Given the description of an element on the screen output the (x, y) to click on. 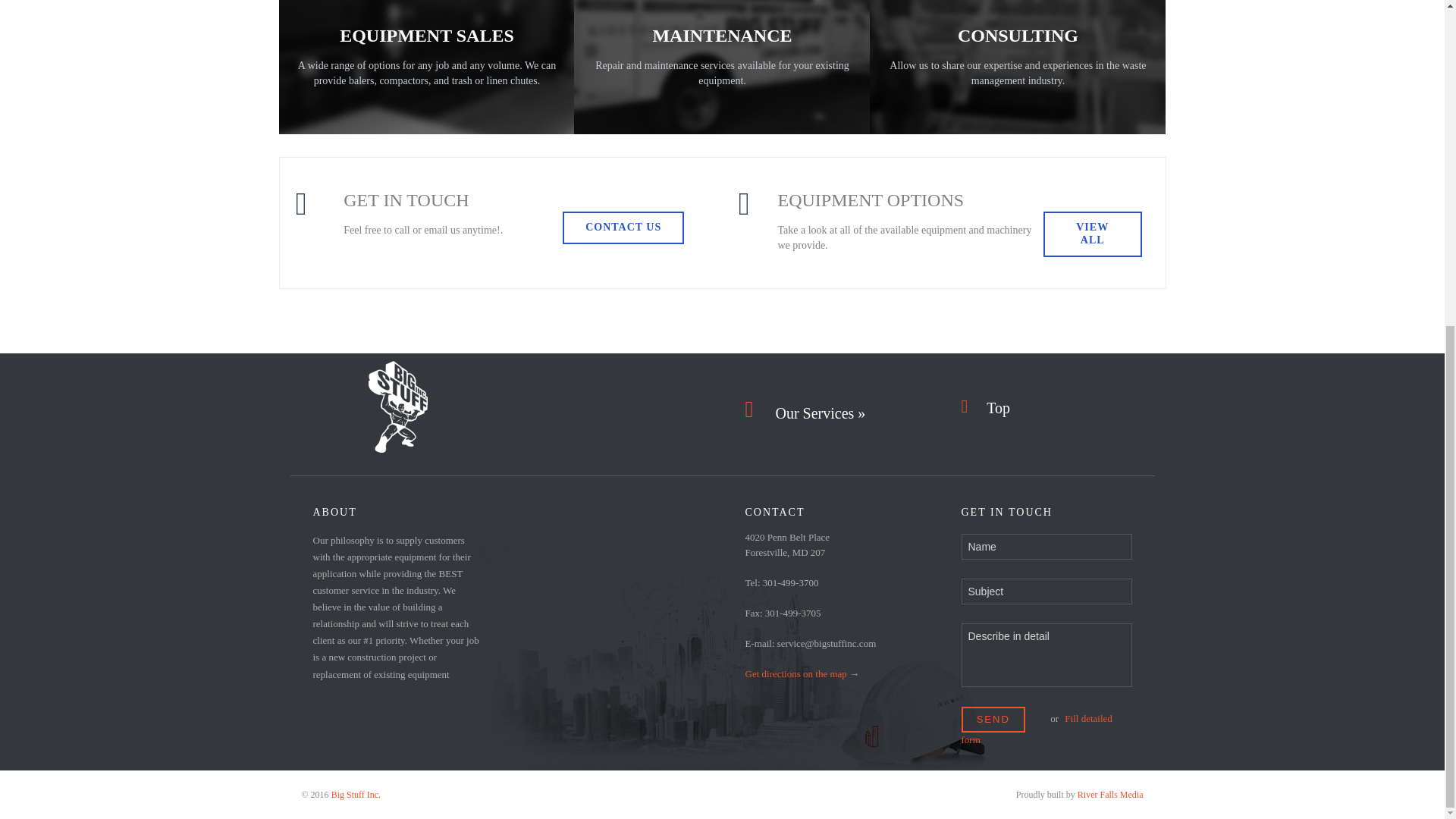
REQUEST SERVICE (721, 150)
Subject (1046, 591)
GET IN TOUCH (1018, 150)
Name (1046, 546)
VIEW INVENTORY (426, 150)
SEND (993, 719)
